Given the description of an element on the screen output the (x, y) to click on. 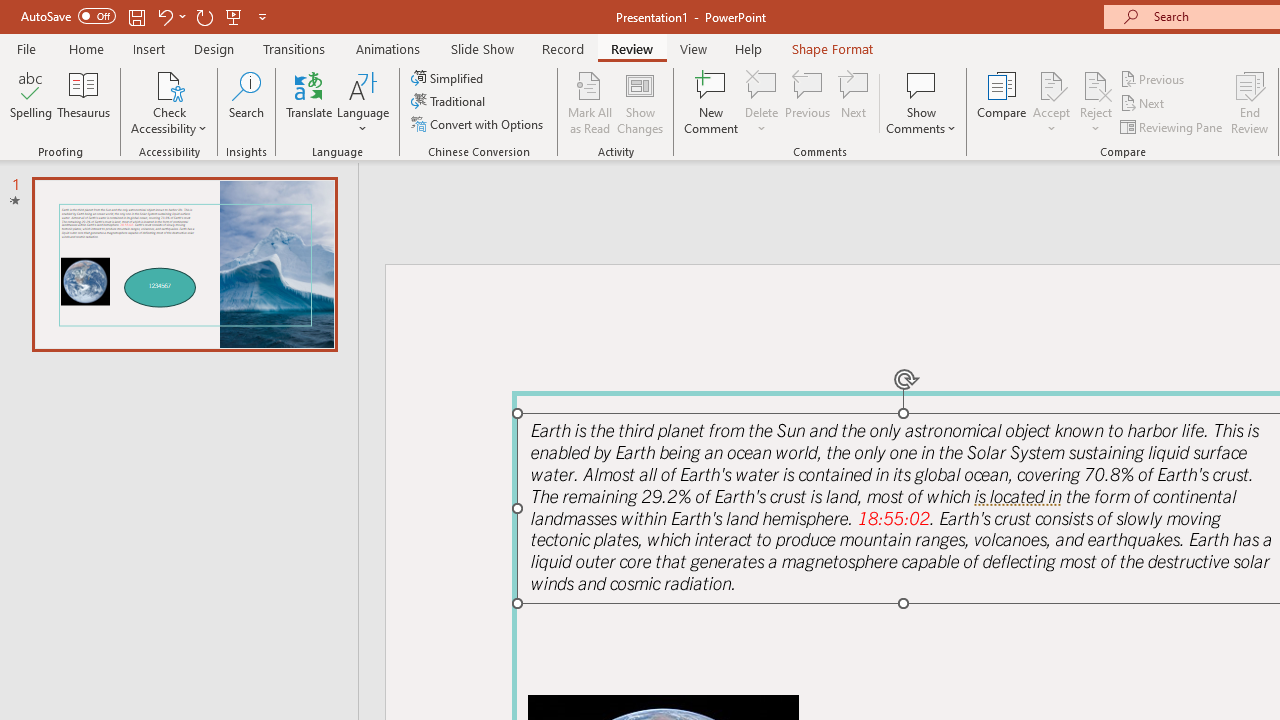
End Review (1249, 102)
Spelling... (31, 102)
Reviewing Pane (1172, 126)
Convert with Options... (479, 124)
Show Comments (921, 102)
Check Accessibility (169, 102)
Accept Change (1051, 84)
Delete (762, 84)
